Given the description of an element on the screen output the (x, y) to click on. 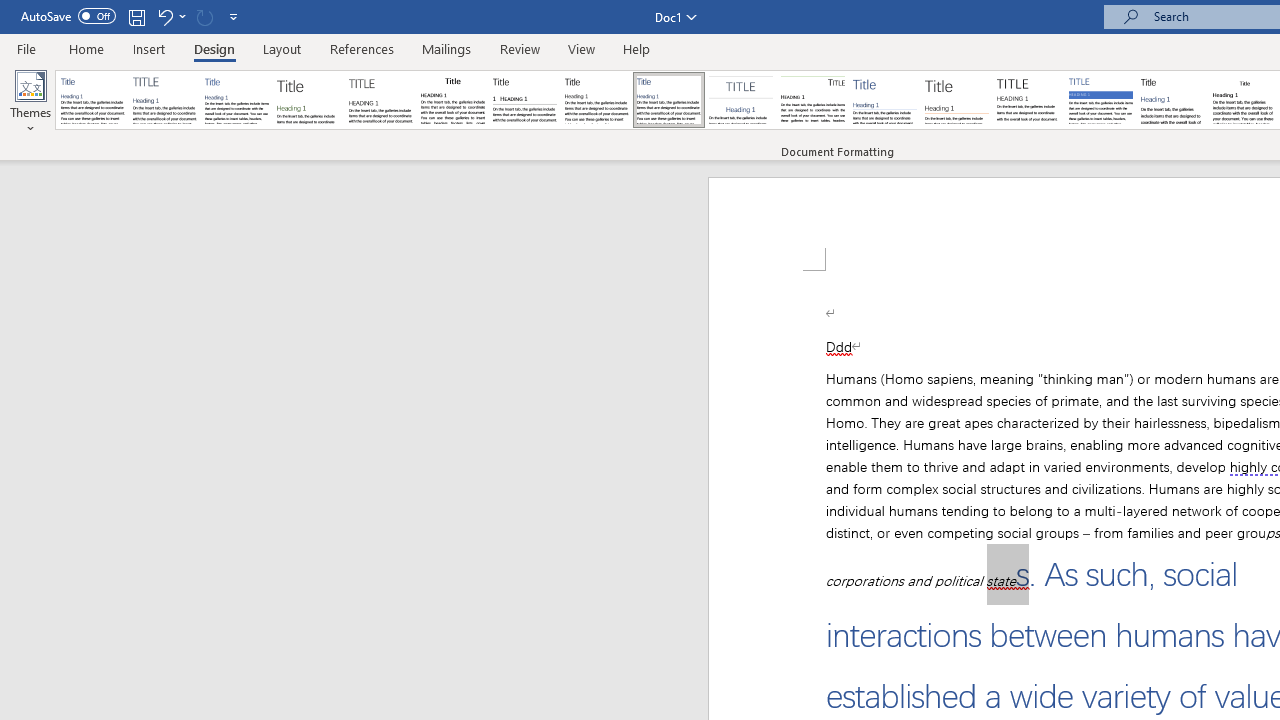
Black & White (Capitalized) (381, 100)
Lines (Stylish) (957, 100)
Basic (Stylish) (308, 100)
Shaded (1100, 100)
Centered (740, 100)
Basic (Elegant) (164, 100)
Undo Outline Move Up (164, 15)
